Given the description of an element on the screen output the (x, y) to click on. 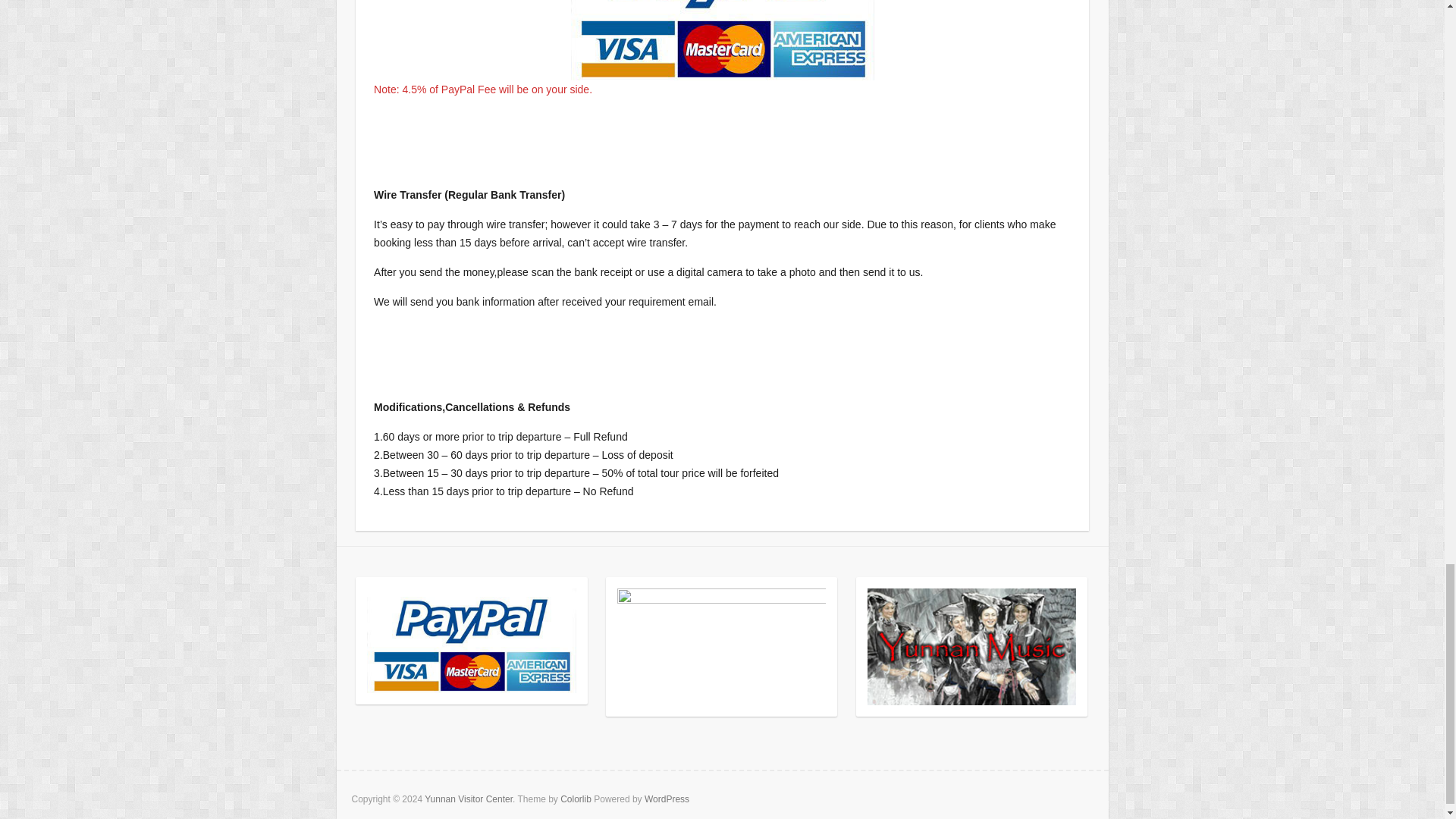
Colorlib (575, 798)
WordPress (666, 798)
Yunnan Visitor Center (468, 798)
